Given the description of an element on the screen output the (x, y) to click on. 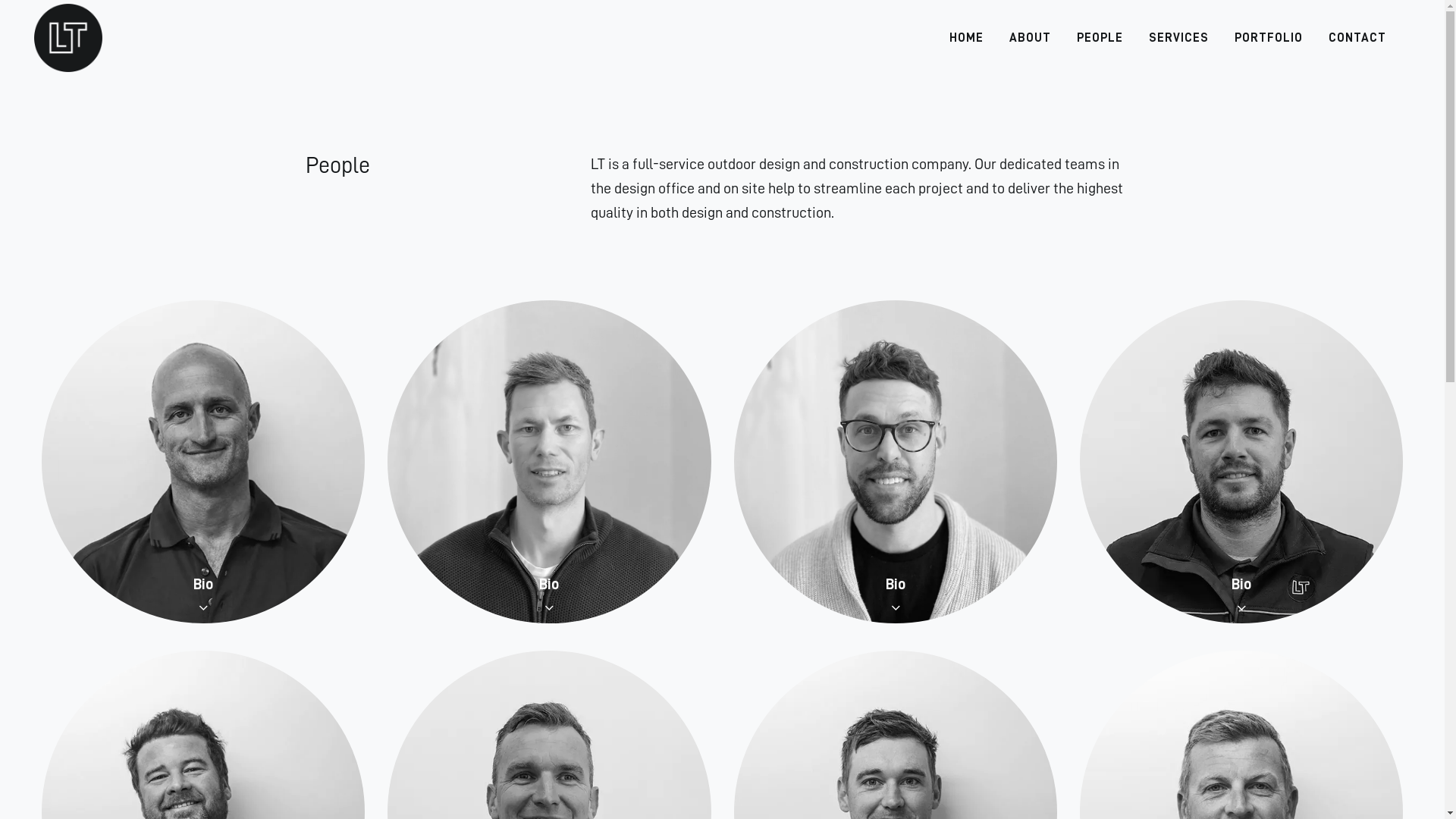
CONTACT Element type: text (1357, 37)
HOME Element type: text (966, 37)
PORTFOLIO Element type: text (1268, 37)
SERVICES Element type: text (1178, 37)
ABOUT Element type: text (1029, 37)
PEOPLE Element type: text (1099, 37)
